Given the description of an element on the screen output the (x, y) to click on. 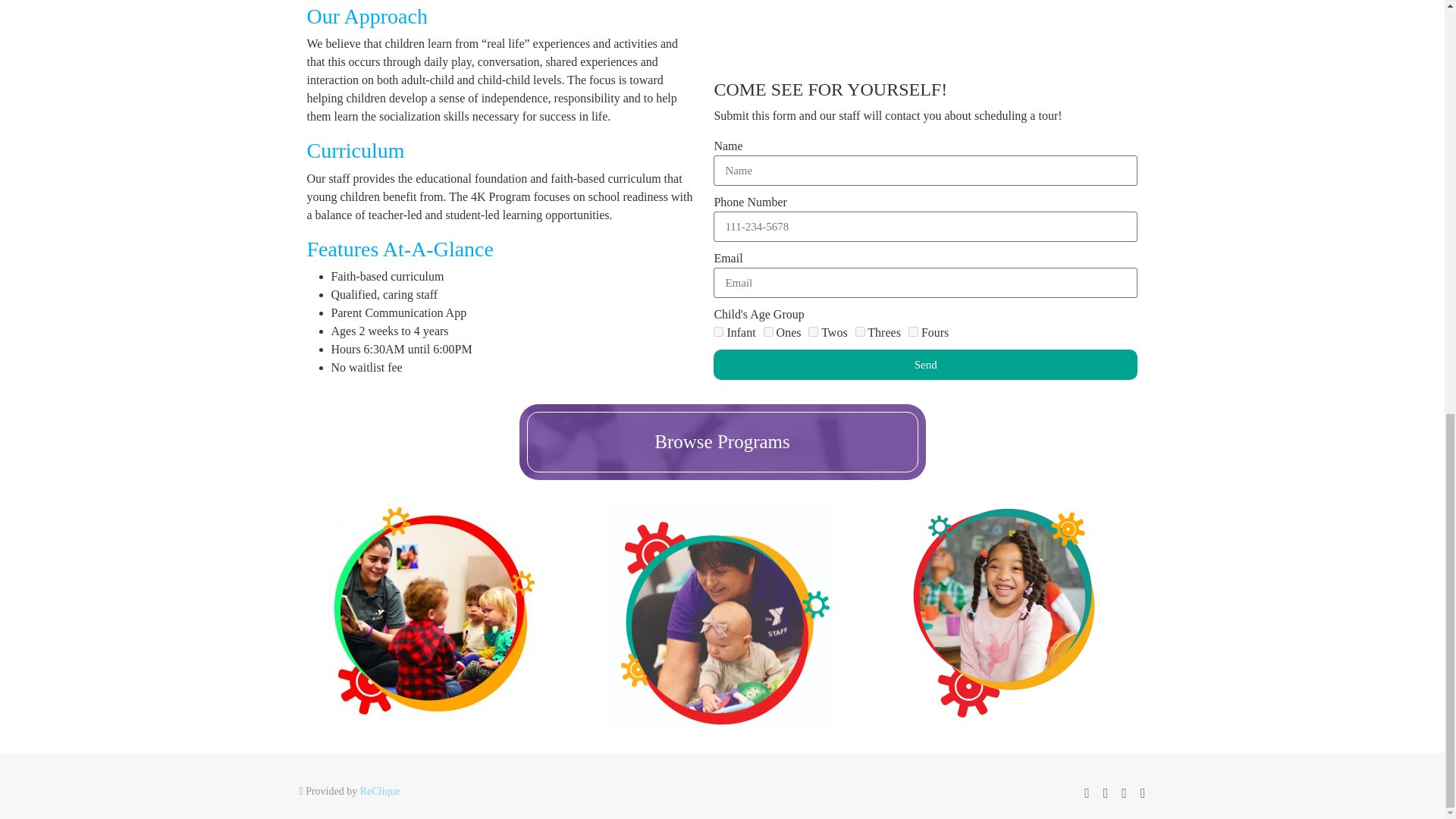
Fours (913, 331)
Twos (813, 331)
Ones (767, 331)
Threes (860, 331)
Infant (718, 331)
